Given the description of an element on the screen output the (x, y) to click on. 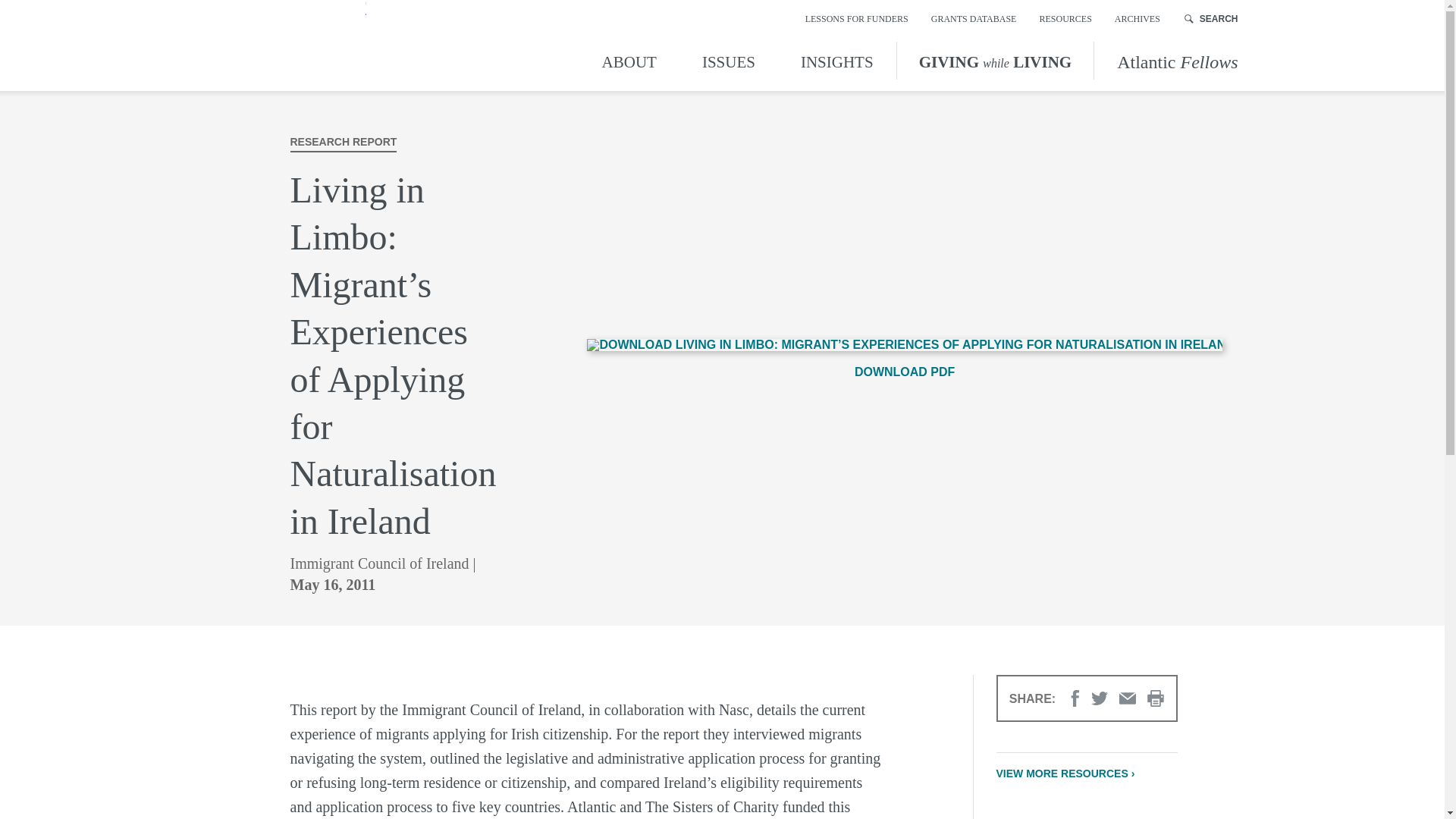
RESOURCES (1064, 18)
Skip to main content (14, 14)
LESSONS FOR FUNDERS (856, 18)
ISSUES (728, 60)
SEARCH (1212, 18)
GRANTS DATABASE (973, 18)
ARCHIVES (1137, 18)
The Atlantic Philanthropies (277, 45)
ABOUT (632, 60)
